Given the description of an element on the screen output the (x, y) to click on. 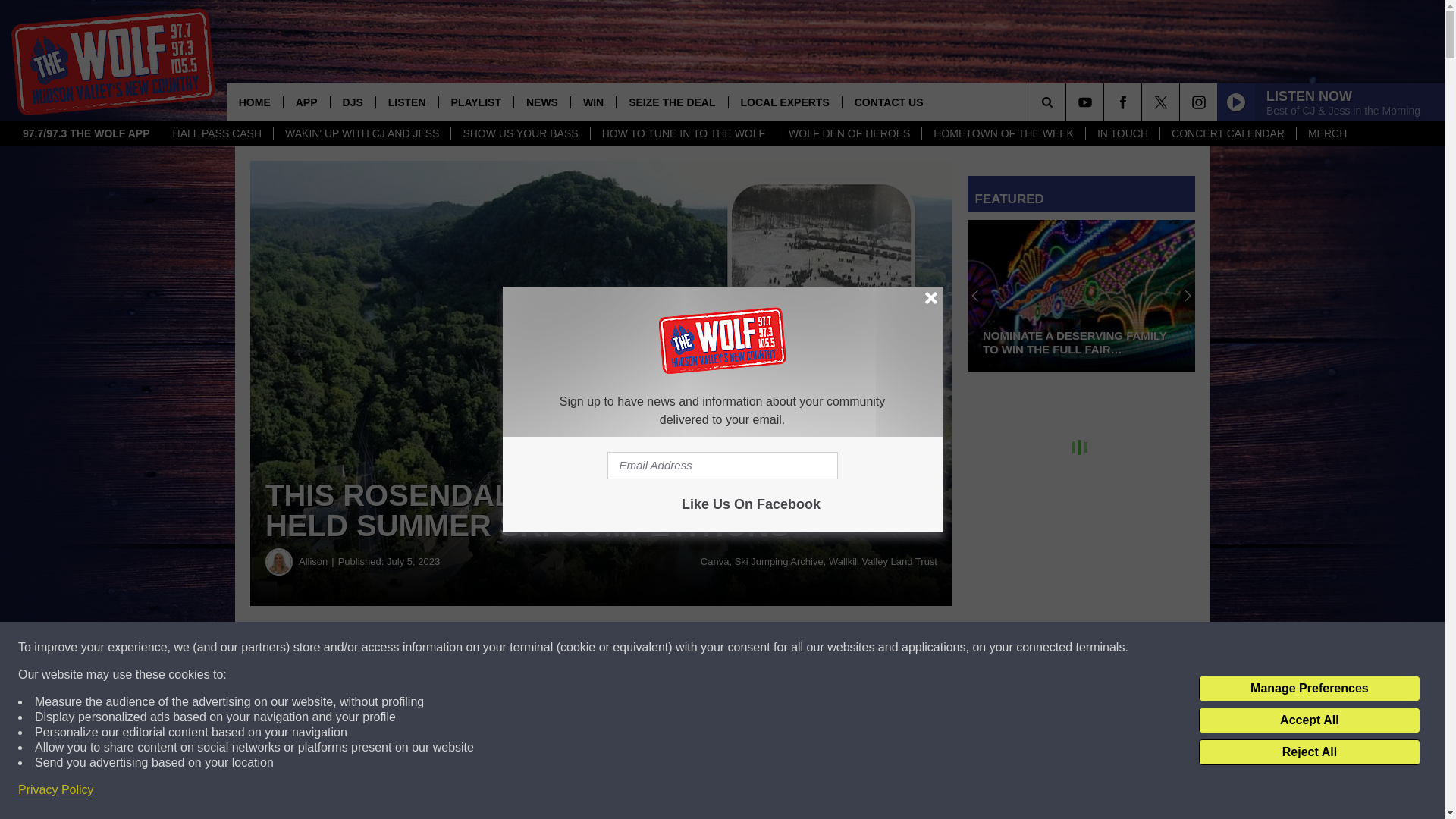
WOLF DEN OF HEROES (848, 133)
WIN (592, 102)
Share on Facebook (460, 647)
HOW TO TUNE IN TO THE WOLF (682, 133)
HALL PASS CASH (217, 133)
HOME (254, 102)
HOMETOWN OF THE WEEK (1002, 133)
SEARCH (1068, 102)
Privacy Policy (55, 789)
DJS (352, 102)
MERCH (1326, 133)
SEARCH (1068, 102)
PLAYLIST (475, 102)
Manage Preferences (1309, 688)
NEWS (541, 102)
